Given the description of an element on the screen output the (x, y) to click on. 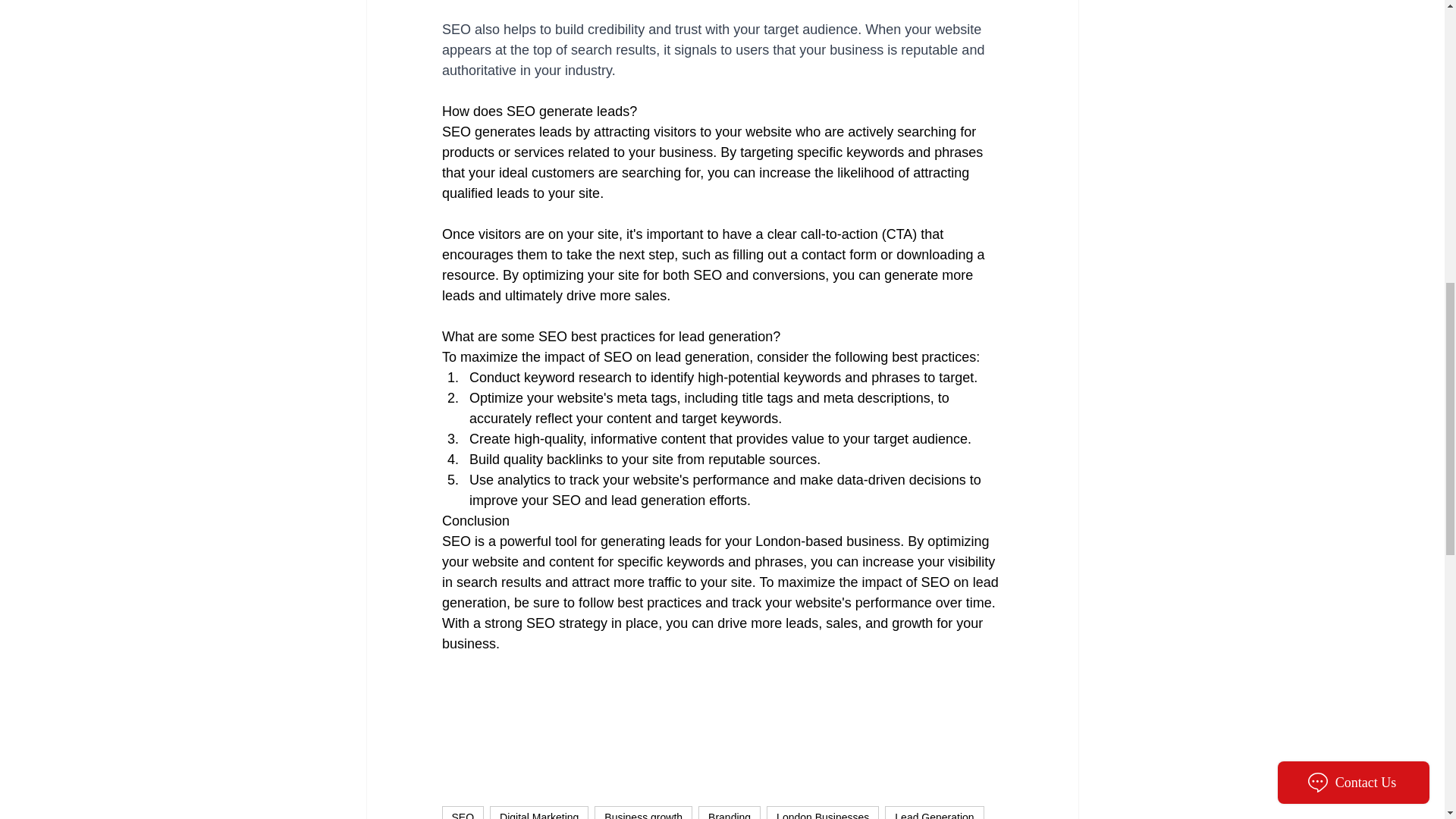
London Businesses (823, 812)
Lead Generation (934, 812)
Business growth (643, 812)
Digital Marketing (538, 812)
SEO (462, 812)
Branding (729, 812)
